Given the description of an element on the screen output the (x, y) to click on. 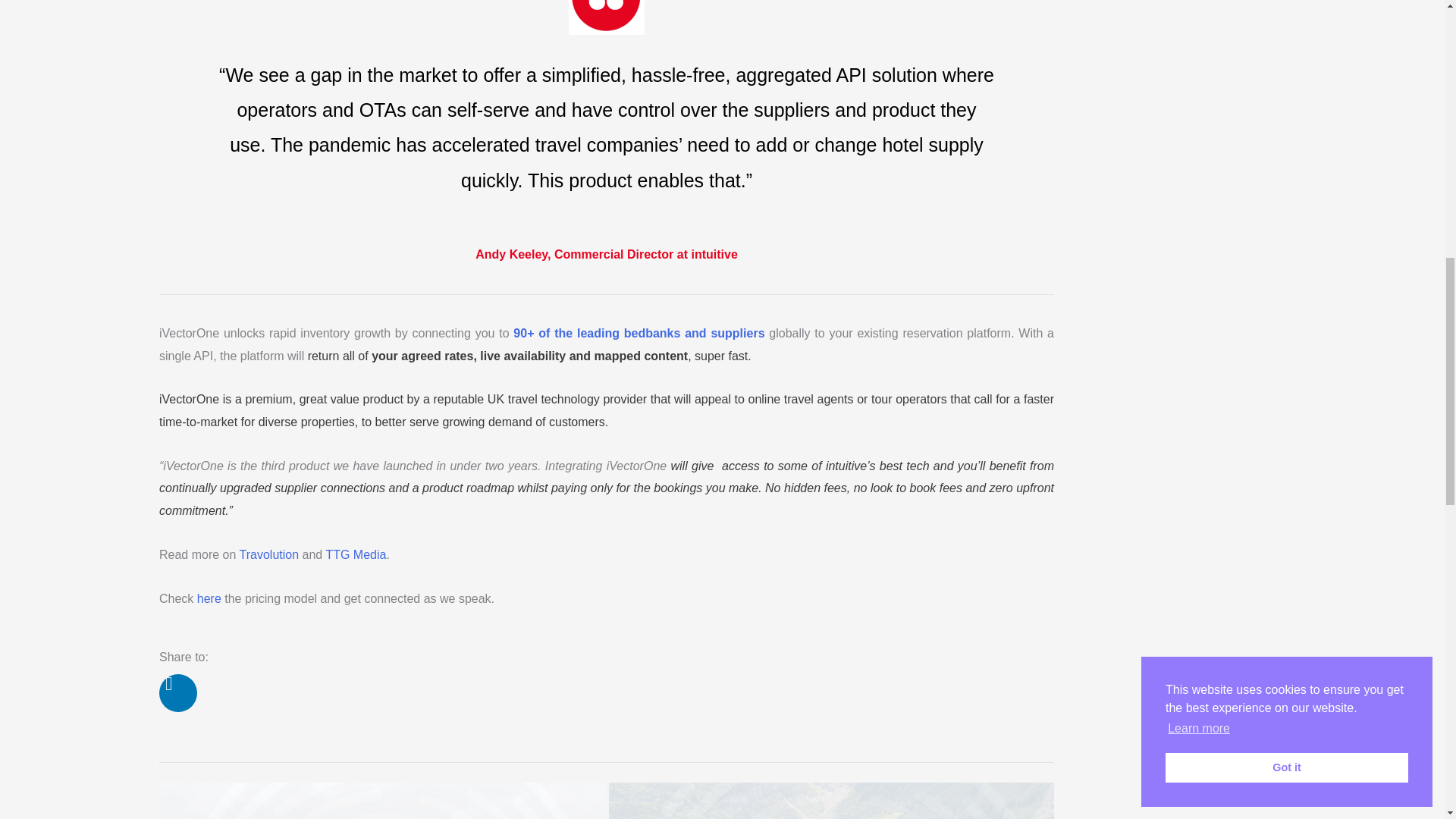
Linkedin (177, 692)
TTG Media (354, 554)
bulina quotes (607, 17)
here (208, 598)
Travolution (269, 554)
